Given the description of an element on the screen output the (x, y) to click on. 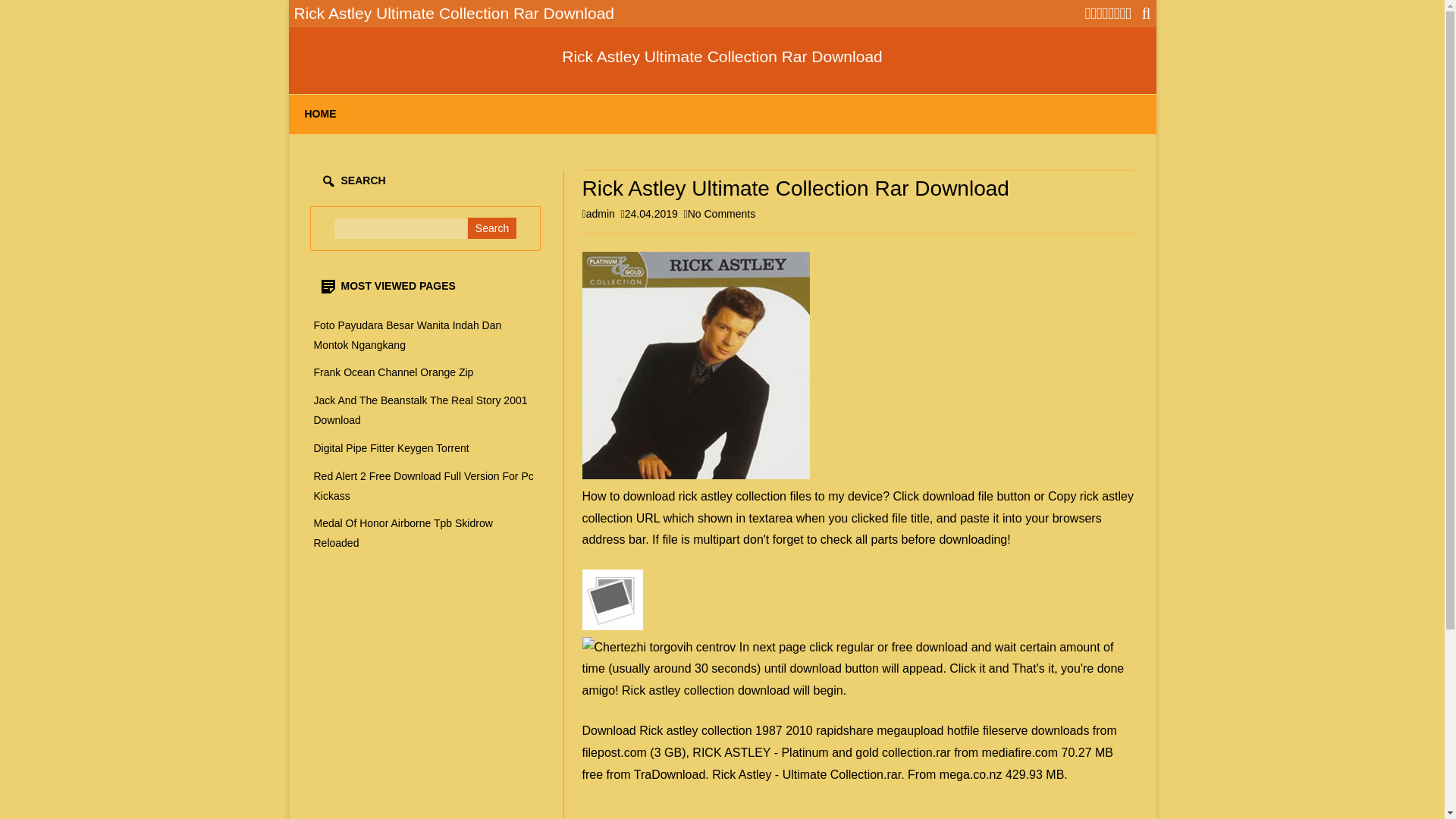
Frank Ocean Channel Orange Zip (394, 372)
Jack And The Beanstalk The Real Story 2001 Download (420, 409)
admin (600, 214)
Search (491, 228)
Medal Of Honor Airborne Tpb Skidrow Reloaded (721, 214)
Digital Pipe Fitter Keygen Torrent (403, 532)
Rick Astley Ultimate Collection Rar Download (391, 448)
Skip to content (722, 56)
Search (424, 486)
Foto Payudara Besar Wanita Indah Dan Montok Ngangkang (491, 228)
Skip to content (408, 335)
Rick Astley Ultimate Collection Rar Download (695, 365)
